Given the description of an element on the screen output the (x, y) to click on. 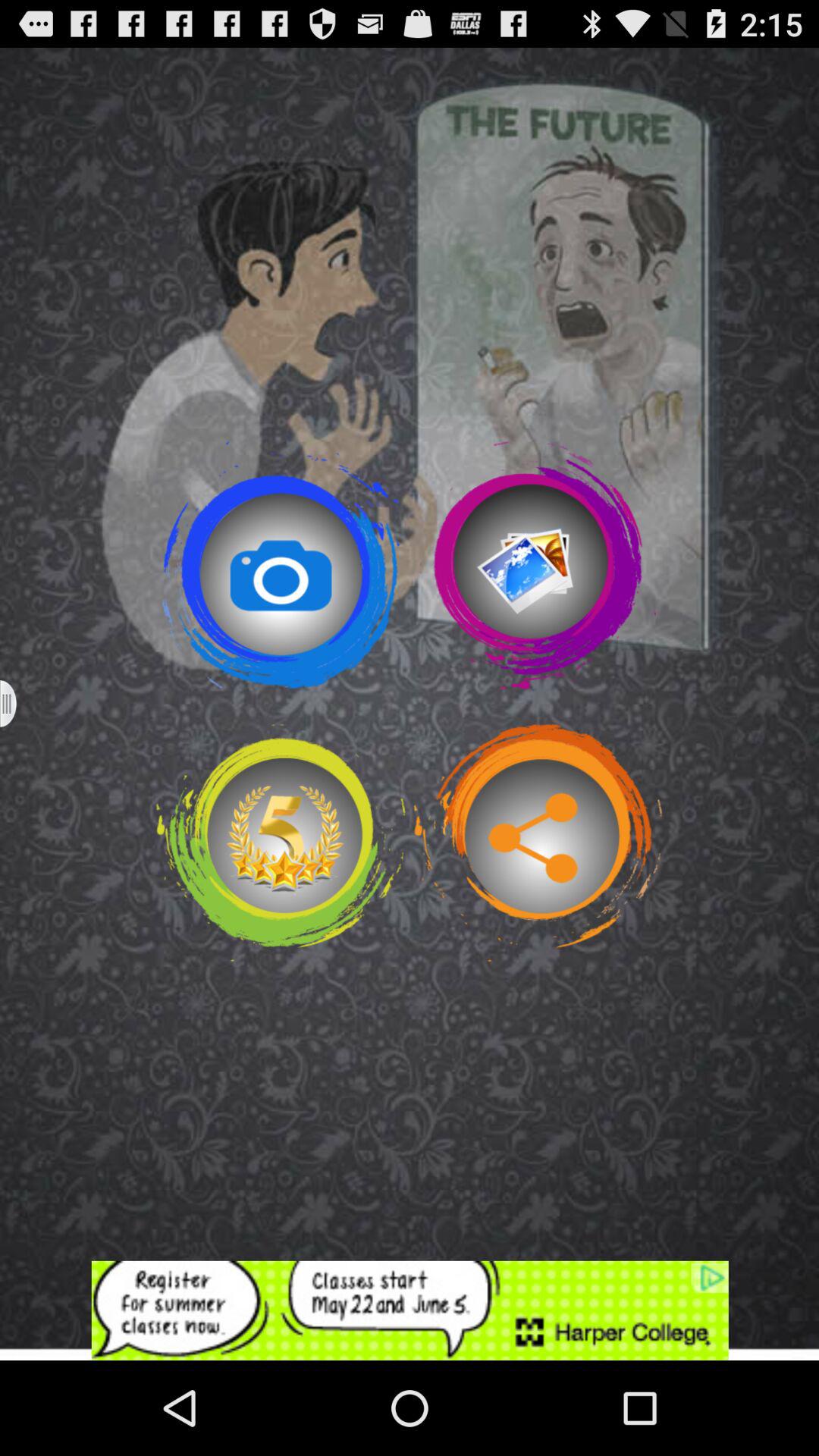
advertisement (409, 1310)
